Given the description of an element on the screen output the (x, y) to click on. 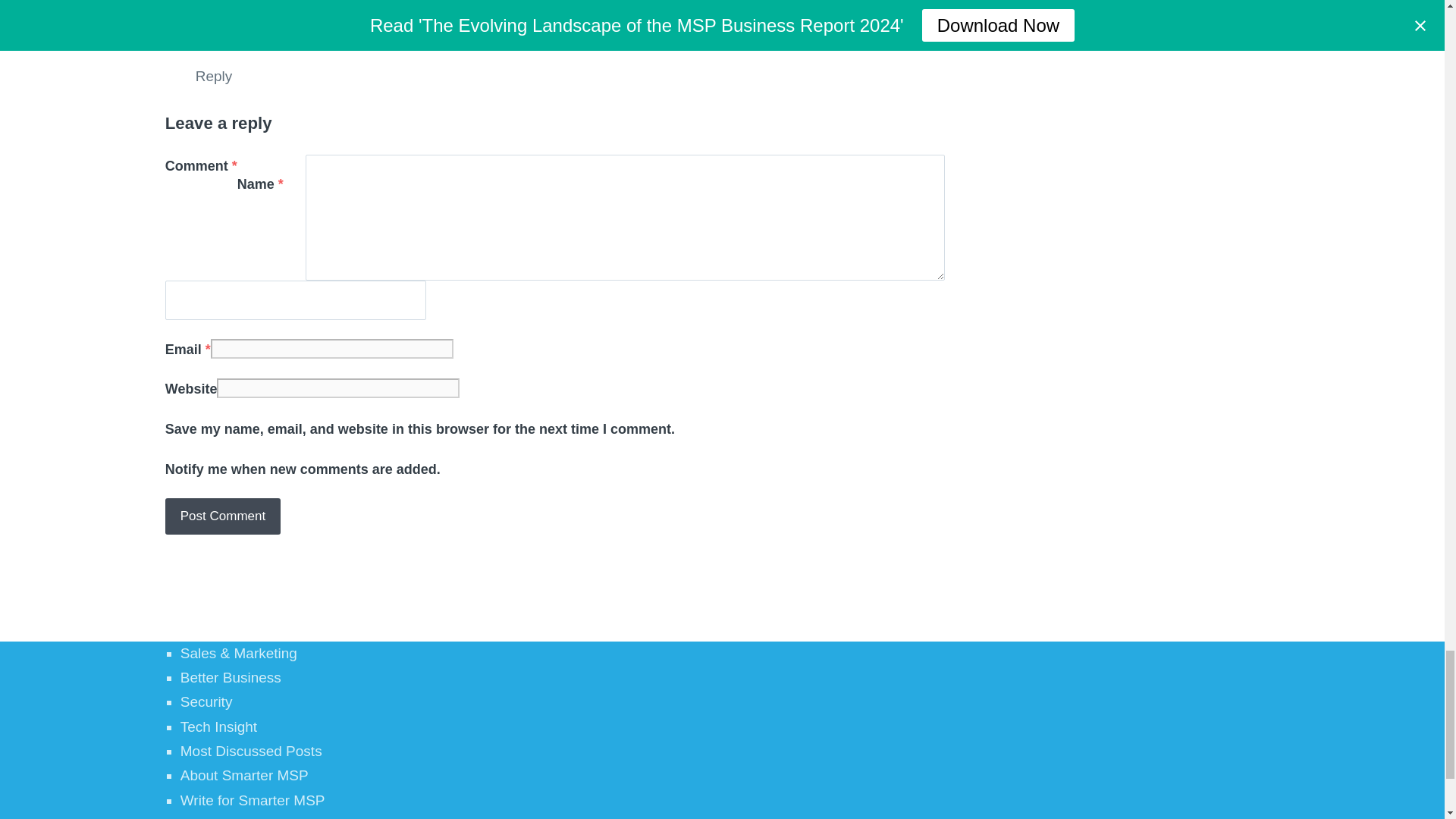
Post Comment (223, 515)
